Given the description of an element on the screen output the (x, y) to click on. 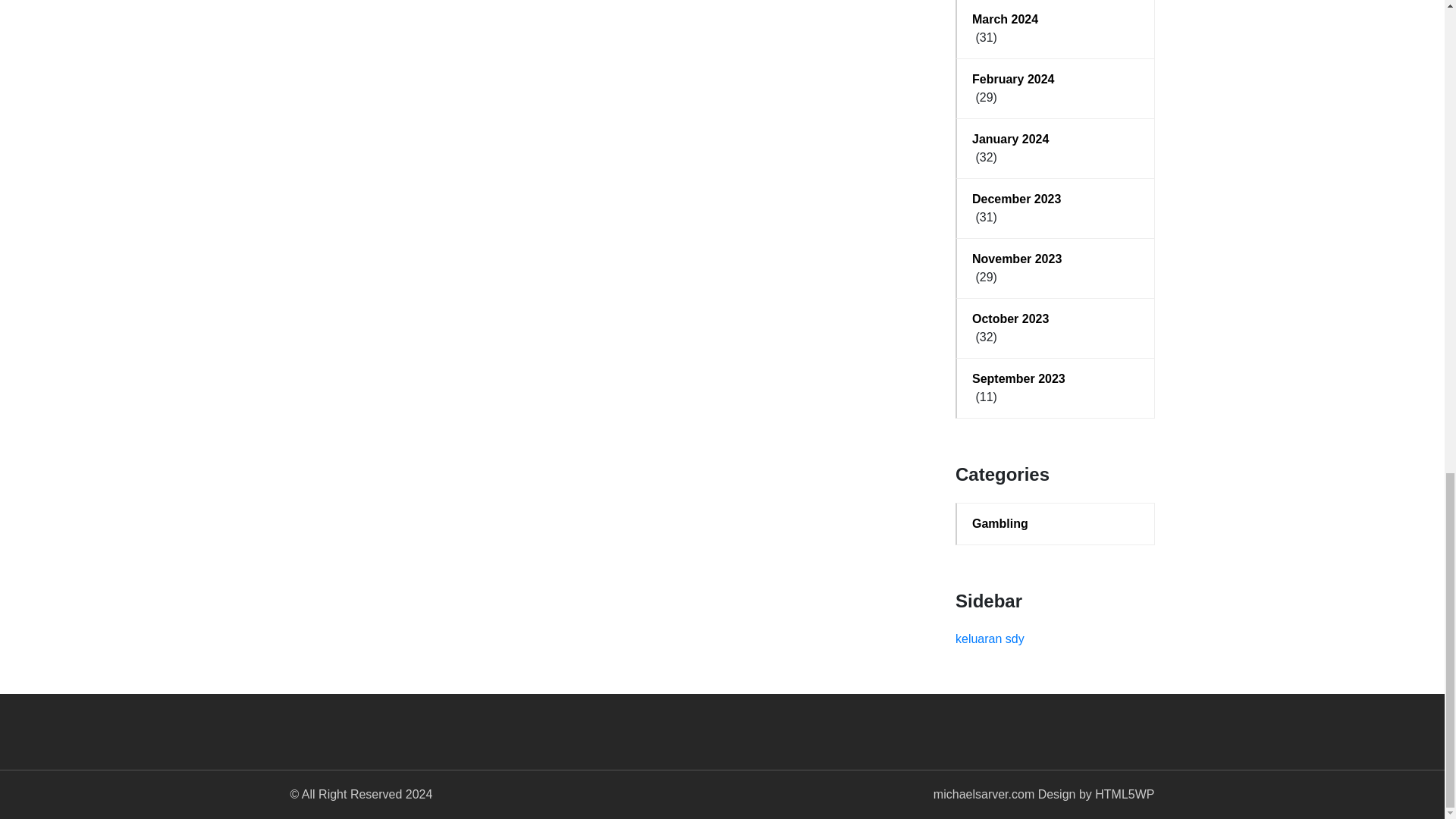
Gambling (1055, 524)
February 2024 (1055, 79)
October 2023 (1055, 319)
March 2024 (1055, 19)
keluaran sdy (990, 638)
HTML5WP (1124, 793)
December 2023 (1055, 199)
January 2024 (1055, 139)
September 2023 (1055, 379)
November 2023 (1055, 259)
